Given the description of an element on the screen output the (x, y) to click on. 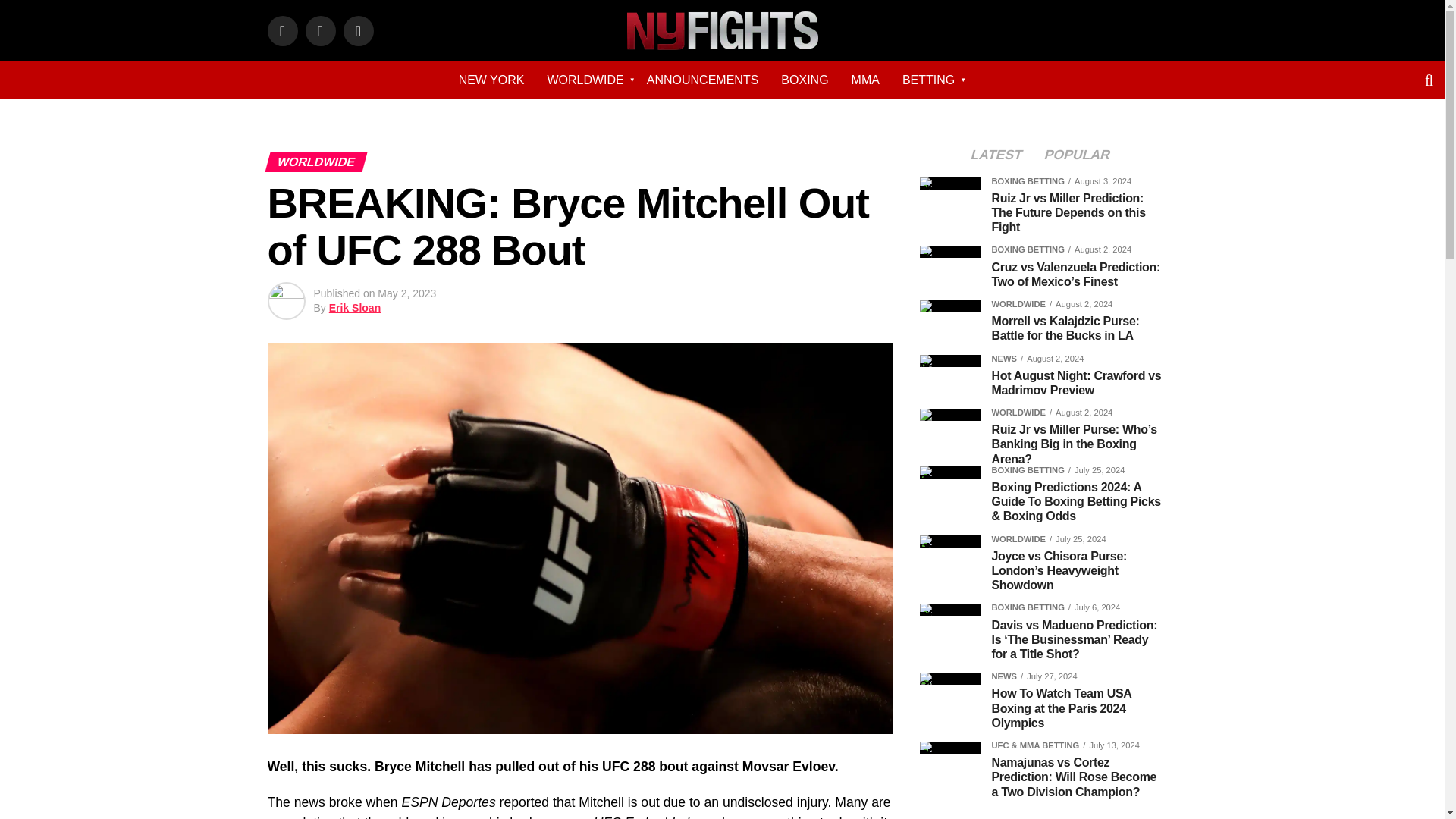
MMA (865, 80)
NEW YORK (490, 80)
BOXING (805, 80)
WORLDWIDE (584, 80)
BETTING (928, 80)
ANNOUNCEMENTS (702, 80)
